Given the description of an element on the screen output the (x, y) to click on. 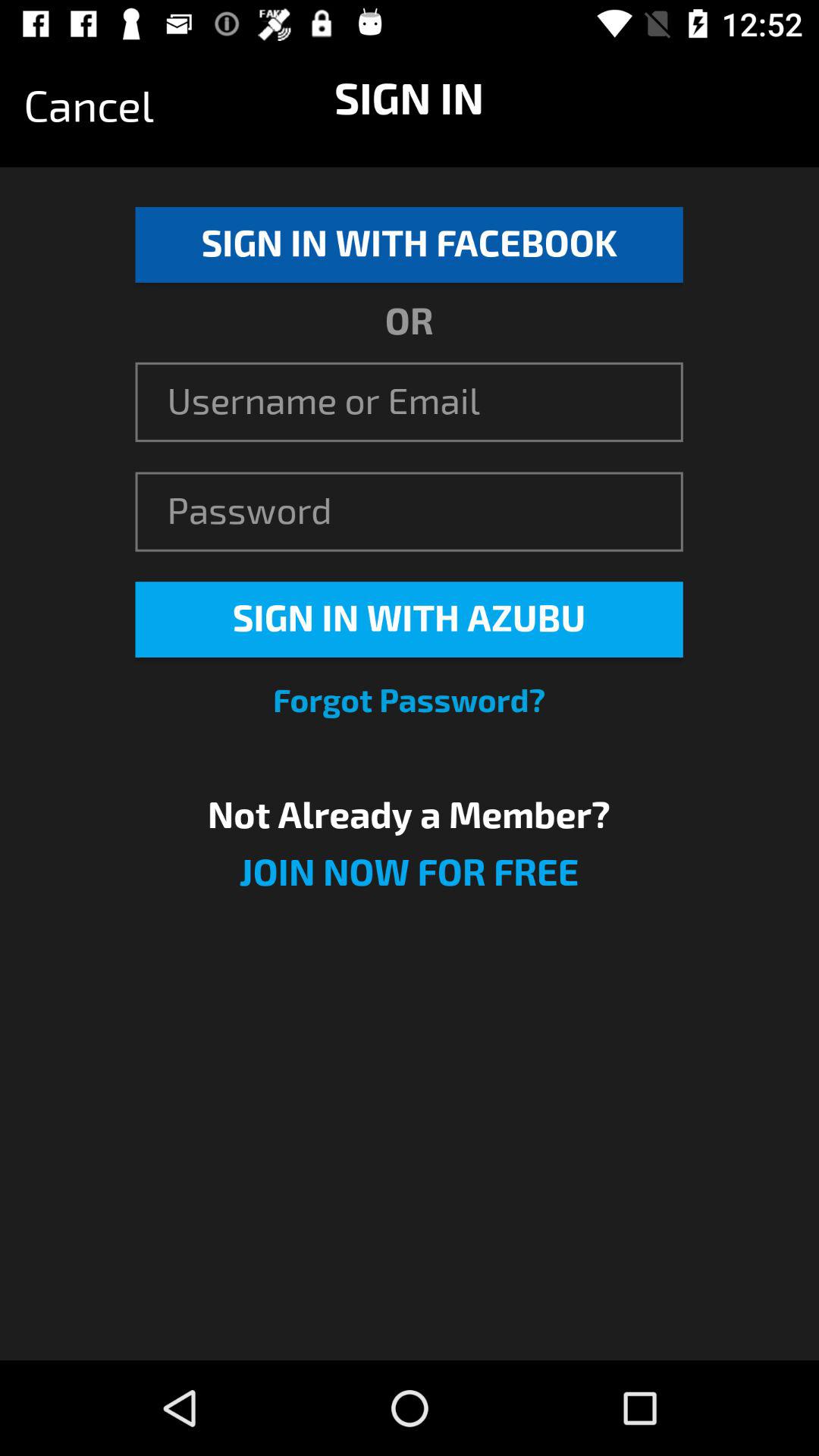
turn on icon at the top left corner (89, 107)
